Given the description of an element on the screen output the (x, y) to click on. 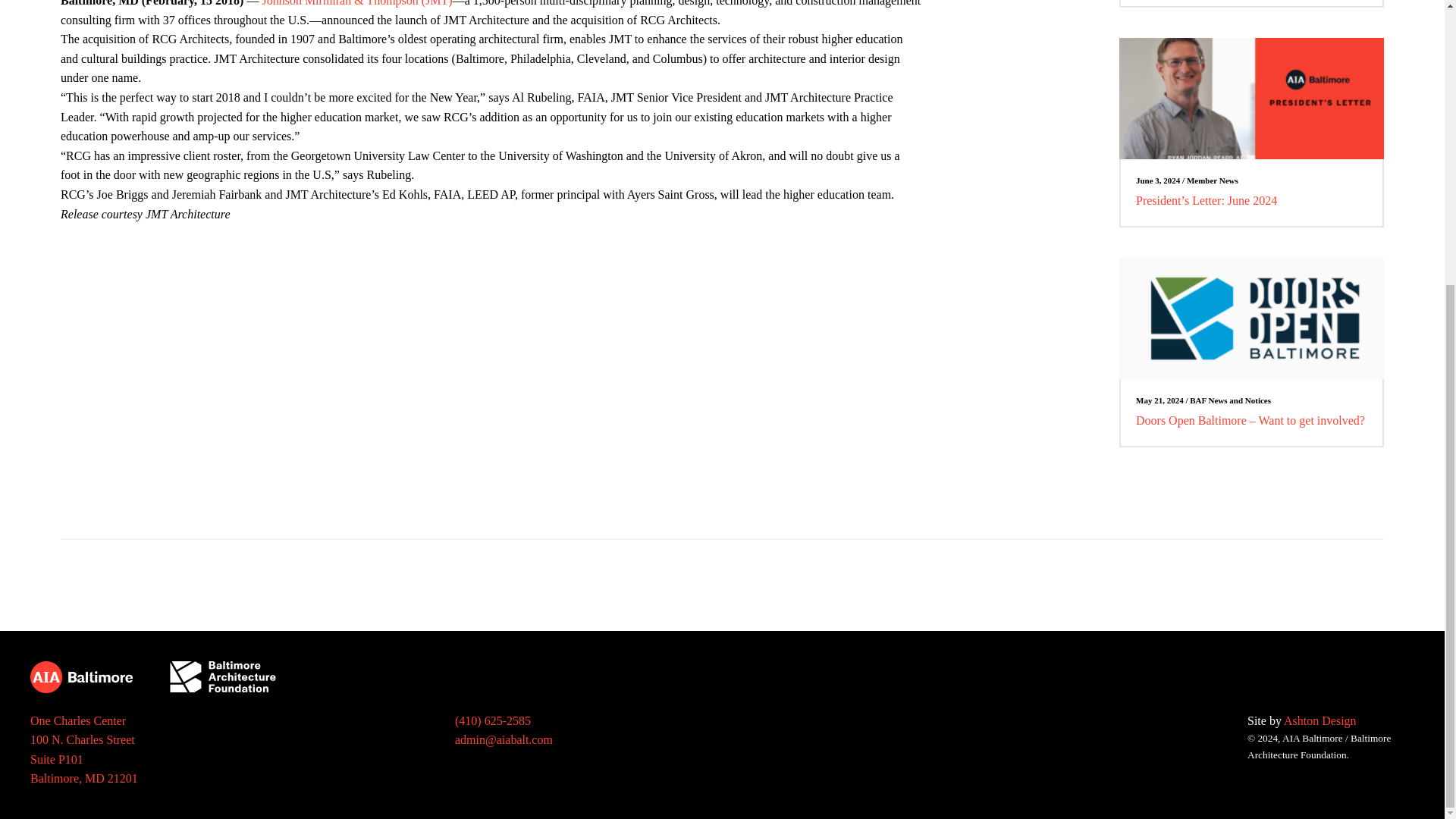
Ashton Design (1320, 720)
